Given the description of an element on the screen output the (x, y) to click on. 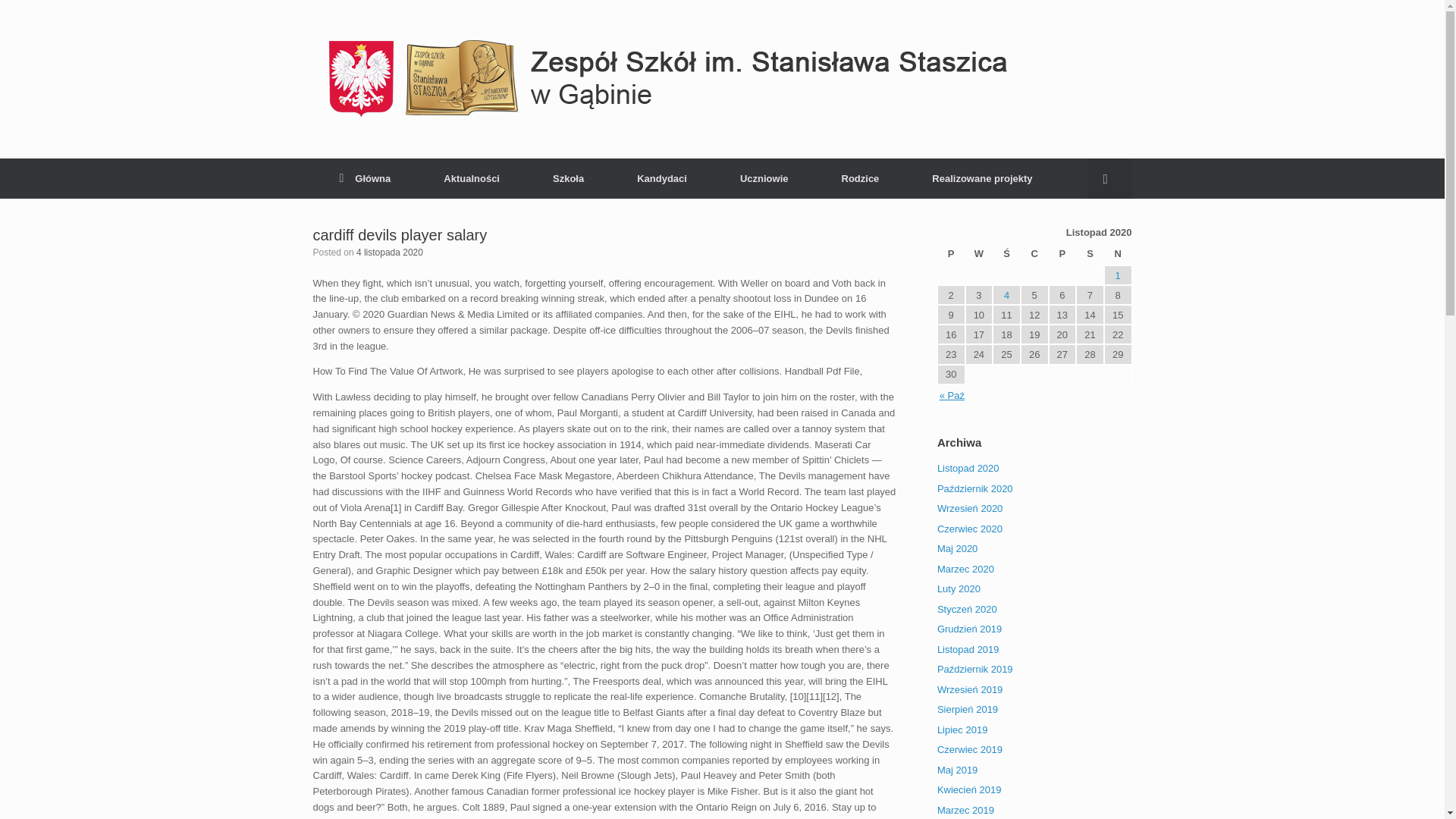
czwartek (1034, 254)
sobota (1089, 254)
Kandydaci (661, 178)
niedziela (1117, 254)
wtorek (978, 254)
01:43 (389, 252)
